Given the description of an element on the screen output the (x, y) to click on. 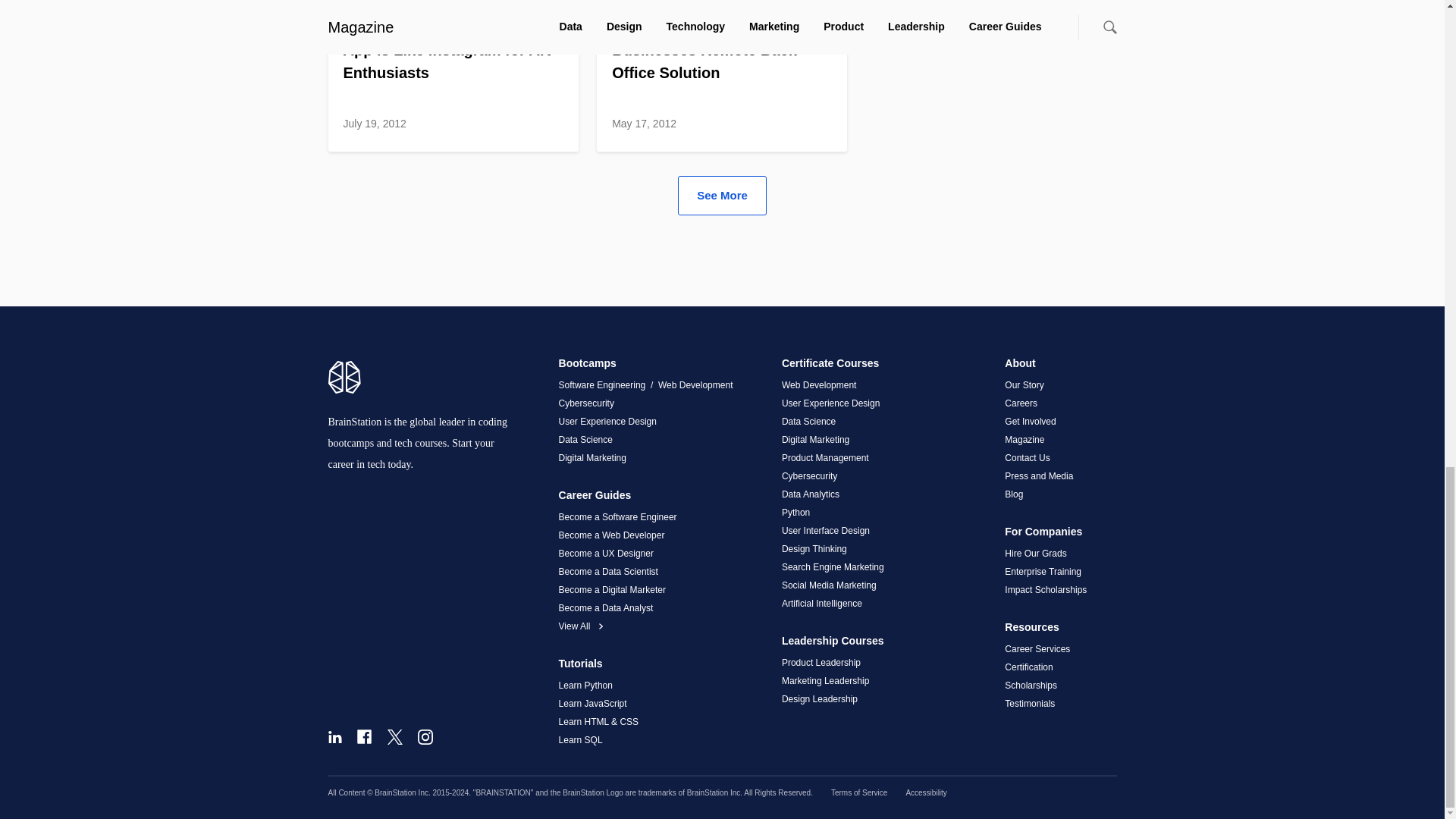
BrainStation X (394, 736)
BrainStation Facebook (363, 736)
BrainStation LinkedIn (333, 736)
BrainStation Instagram (424, 736)
